Given the description of an element on the screen output the (x, y) to click on. 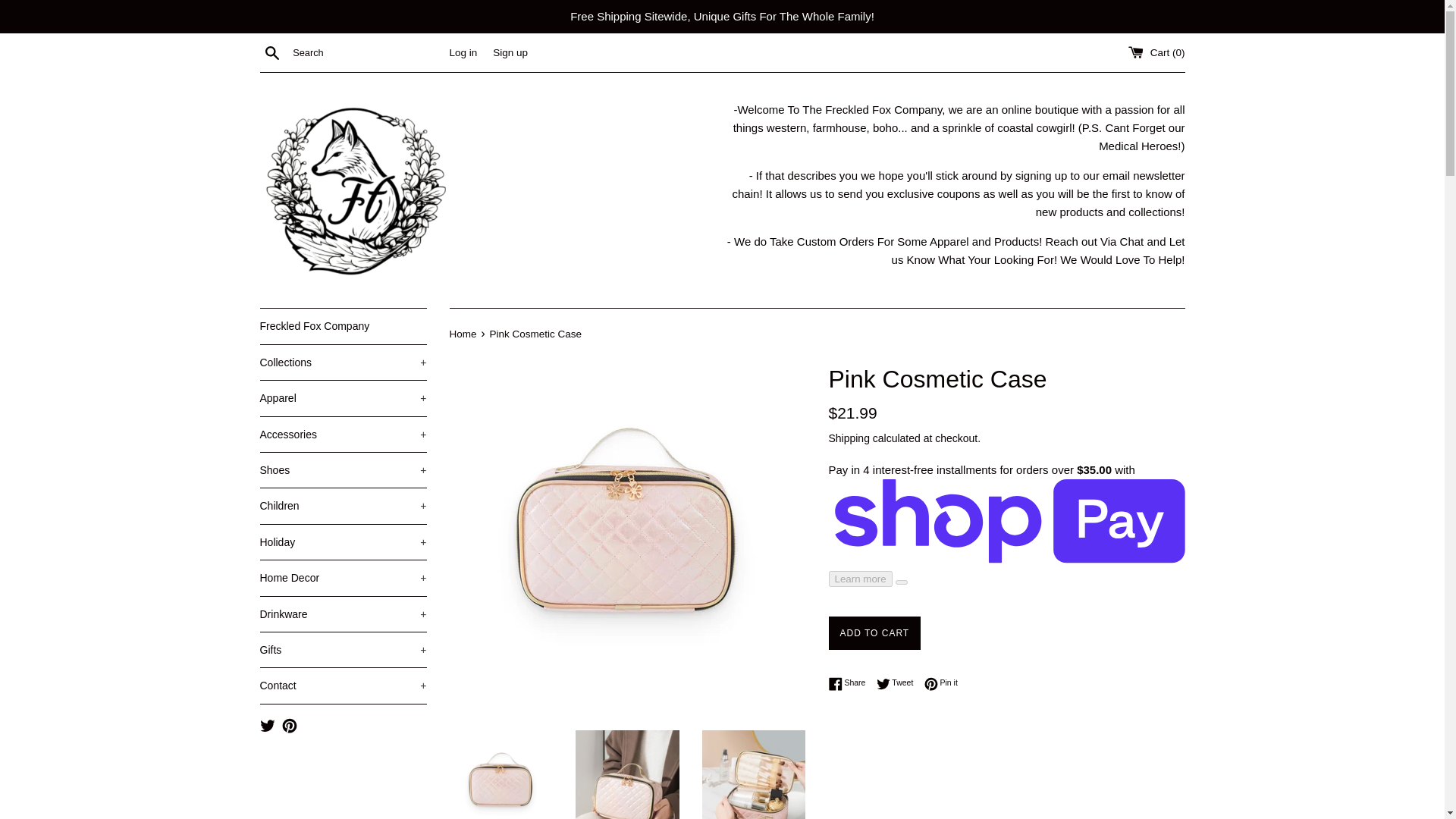
Freckled Fox Company (342, 325)
FreckledFoxCompany on Pinterest (289, 724)
Sign up (510, 52)
FreckledFoxCompany on Twitter (267, 724)
Share on Facebook (850, 683)
Search (271, 52)
Log in (462, 52)
Back to the frontpage (463, 333)
Pin on Pinterest (941, 683)
Tweet on Twitter (898, 683)
